Given the description of an element on the screen output the (x, y) to click on. 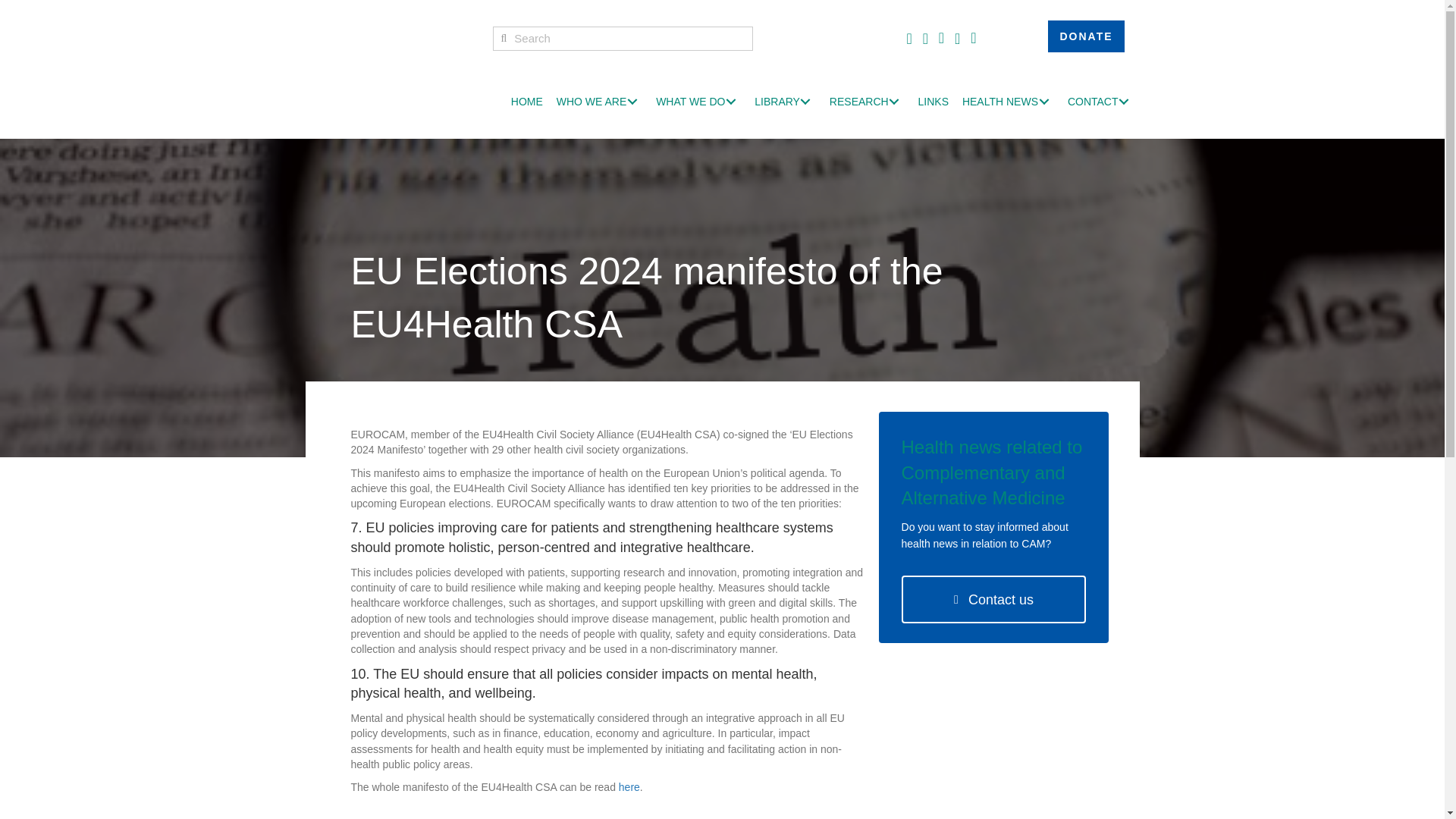
Page 2 (606, 645)
HOME (526, 101)
DONATE (1086, 35)
WHAT WE DO (697, 101)
WHO WE ARE (599, 101)
Page 3 (606, 719)
Search (629, 38)
